Given the description of an element on the screen output the (x, y) to click on. 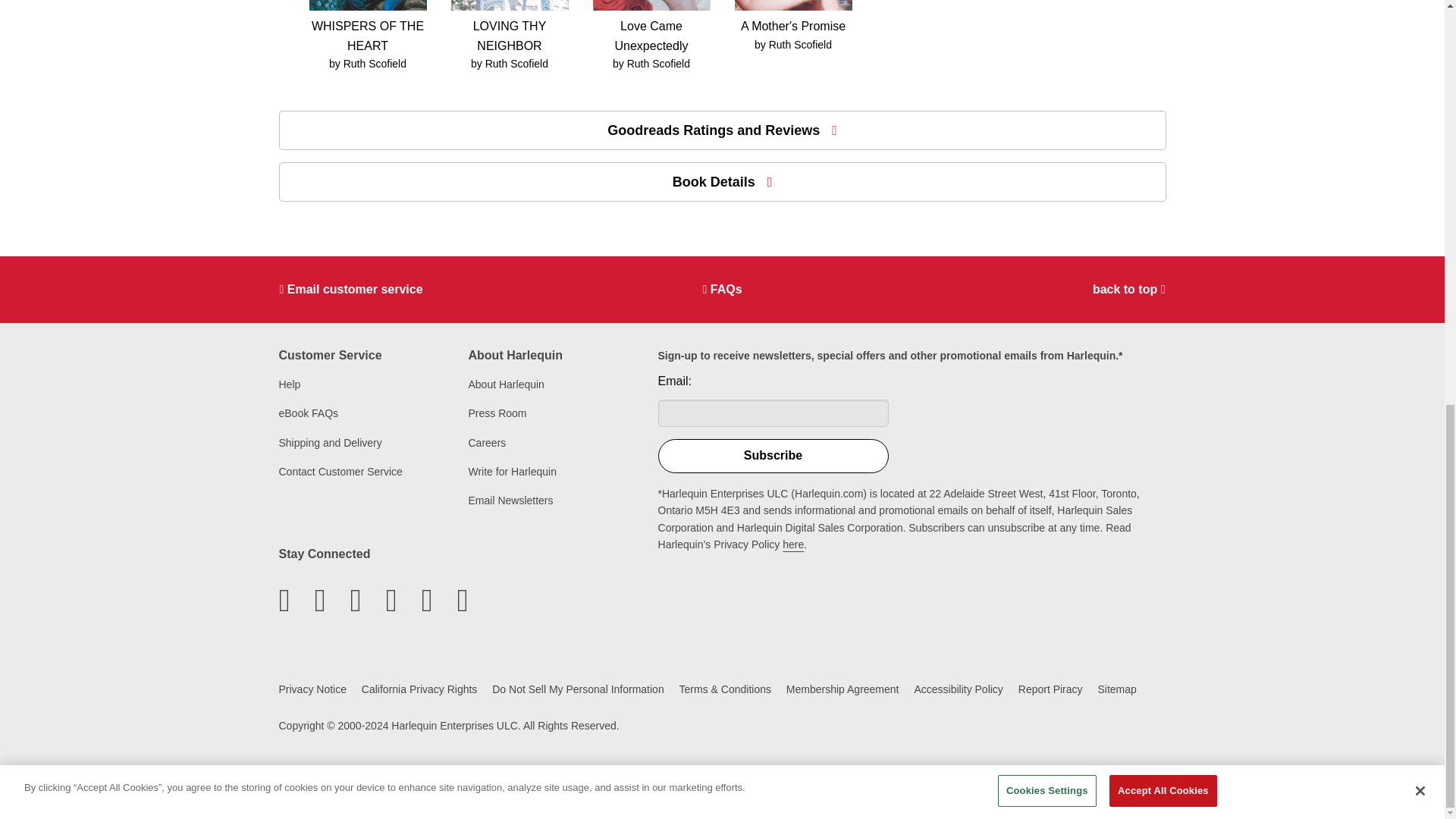
Search for other content by Ruth Scofield (374, 63)
Search for other content by Ruth Scofield (516, 63)
